Given the description of an element on the screen output the (x, y) to click on. 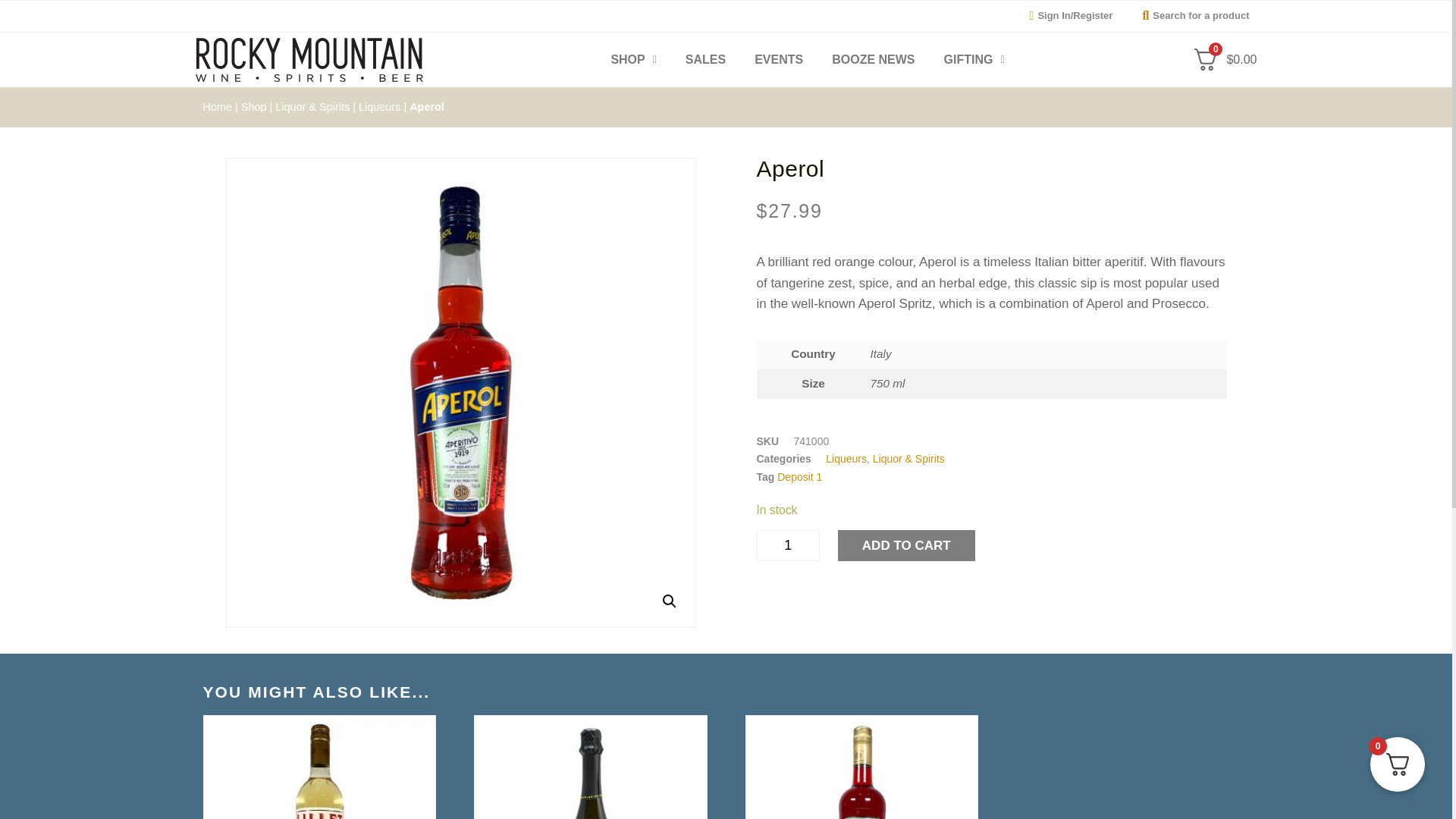
RMWSB logo black (309, 59)
SHOP (632, 59)
SALES (705, 59)
Search for a product (1191, 16)
1 (788, 545)
EVENTS (777, 59)
GIFTING (974, 59)
BOOZE NEWS (872, 59)
